Given the description of an element on the screen output the (x, y) to click on. 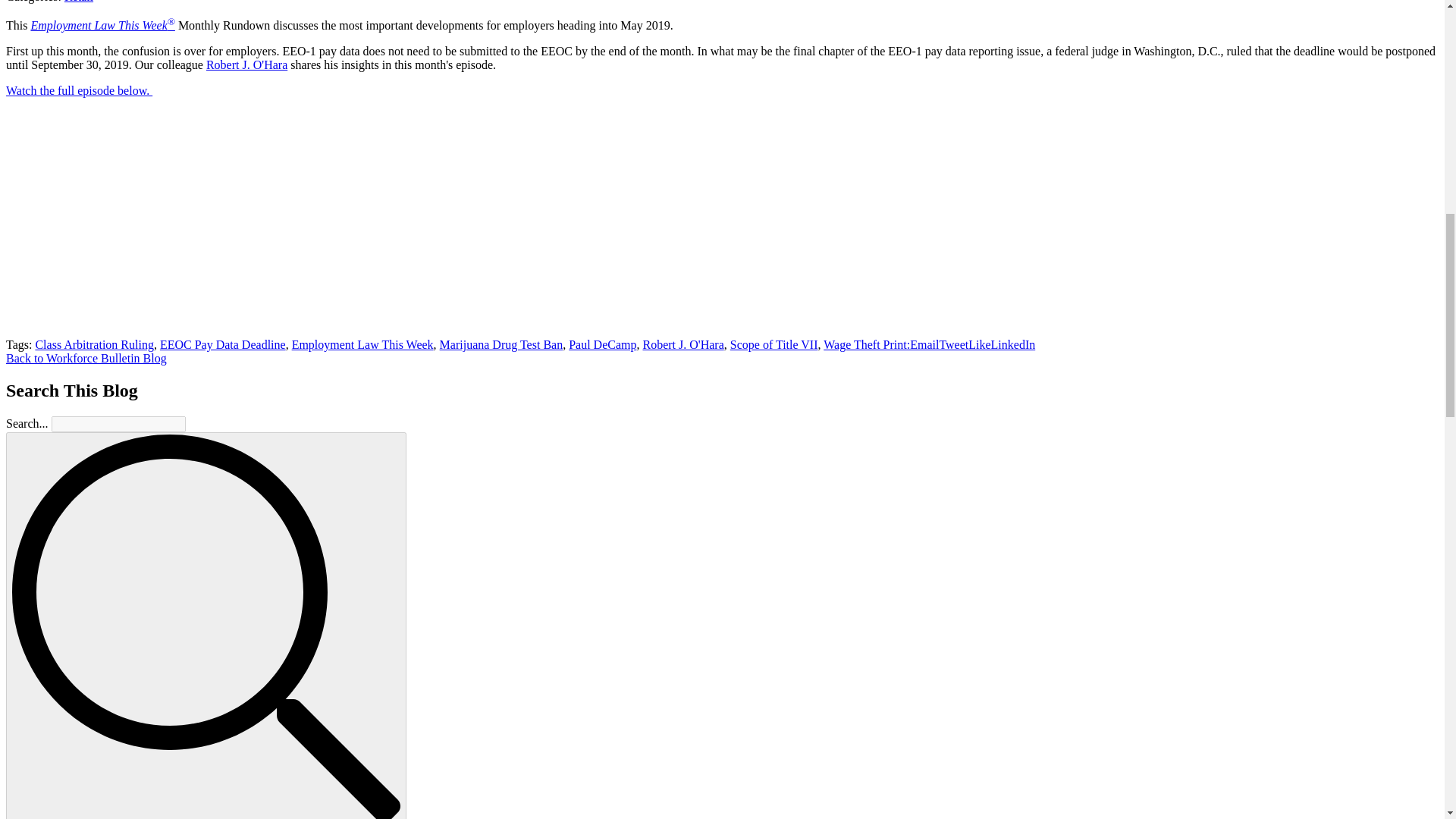
Marijuana Drug Test Ban (501, 344)
Employment Law This Week (362, 344)
Wage Theft Print:EmailTweetLikeLinkedIn (929, 344)
Paul DeCamp (602, 344)
Scope of Title VII (774, 344)
Retail (78, 1)
Back to Workforce Bulletin Blog (86, 358)
Robert J. O'Hara (682, 344)
Watch the full episode below.  (78, 90)
EEOC Pay Data Deadline (222, 344)
Class Arbitration Ruling (93, 344)
Robert J. O'Hara (246, 64)
